Given the description of an element on the screen output the (x, y) to click on. 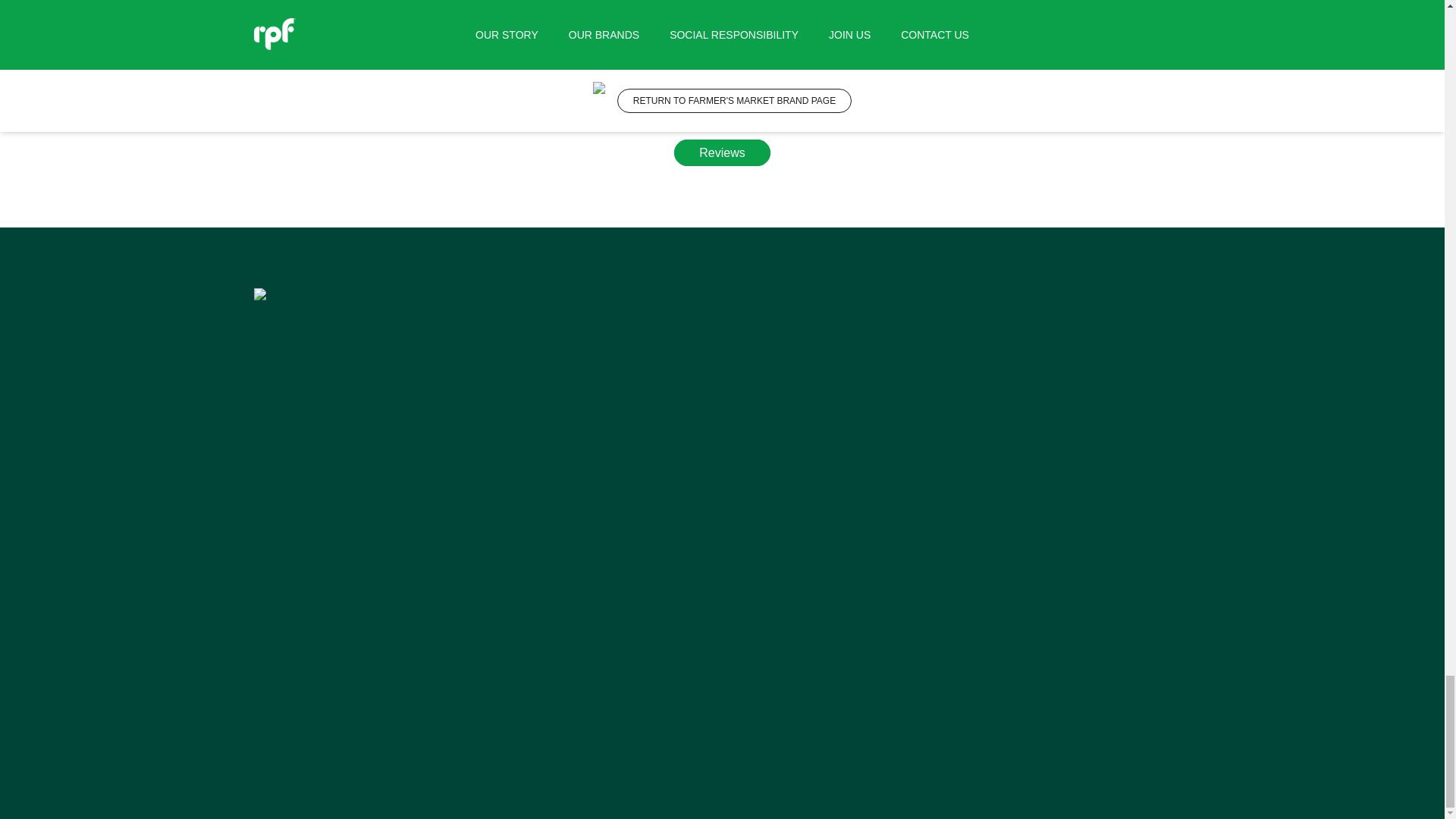
Join Us (641, 343)
Our Story (641, 316)
Linkedin (521, 316)
Farmers Market (805, 343)
Benyfit Natural (805, 370)
Social Responsibility (641, 329)
Ivory Coat (805, 357)
Reviews (722, 152)
Trilogy (805, 329)
